Given the description of an element on the screen output the (x, y) to click on. 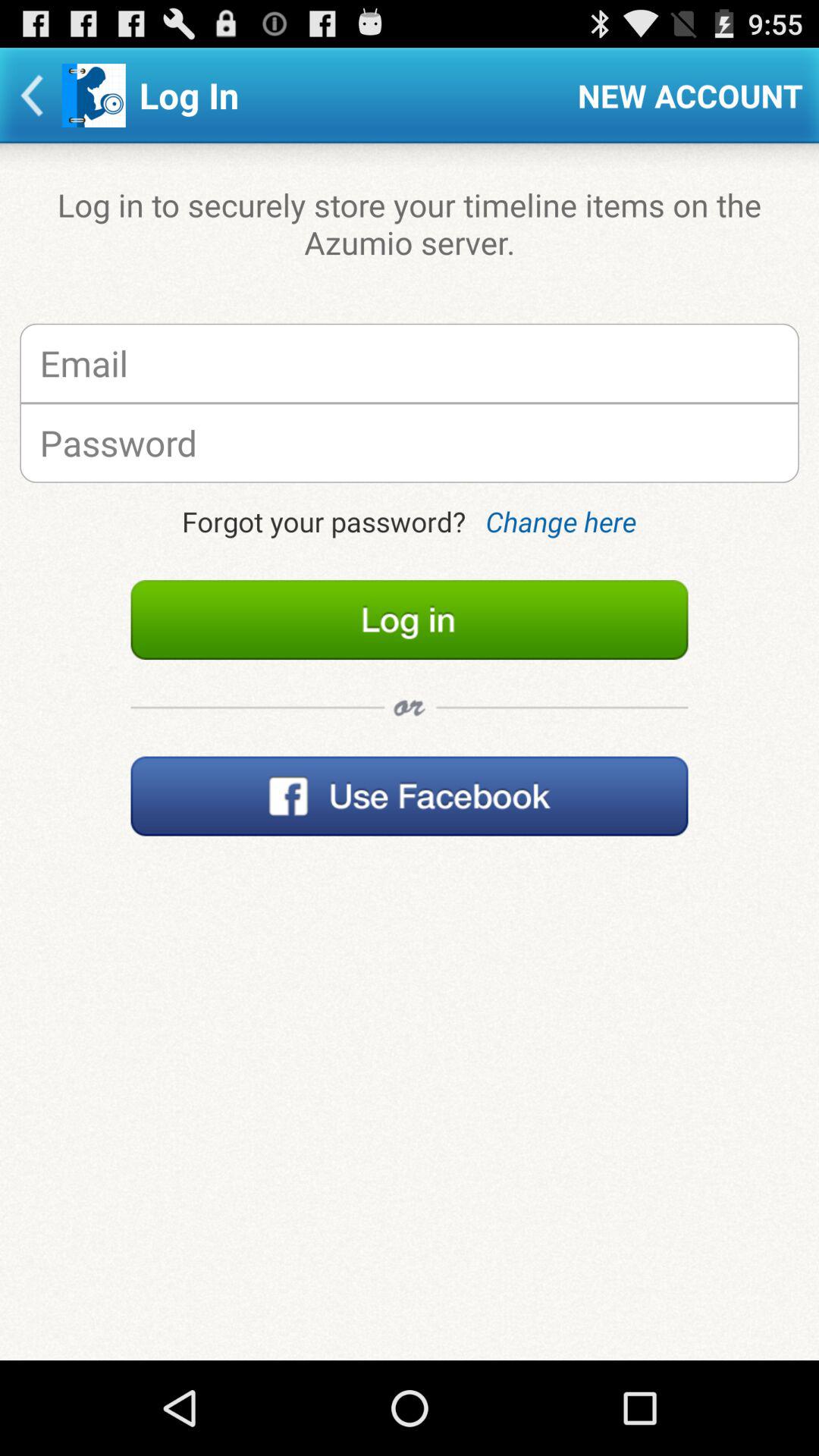
select item next to the log in item (690, 95)
